Given the description of an element on the screen output the (x, y) to click on. 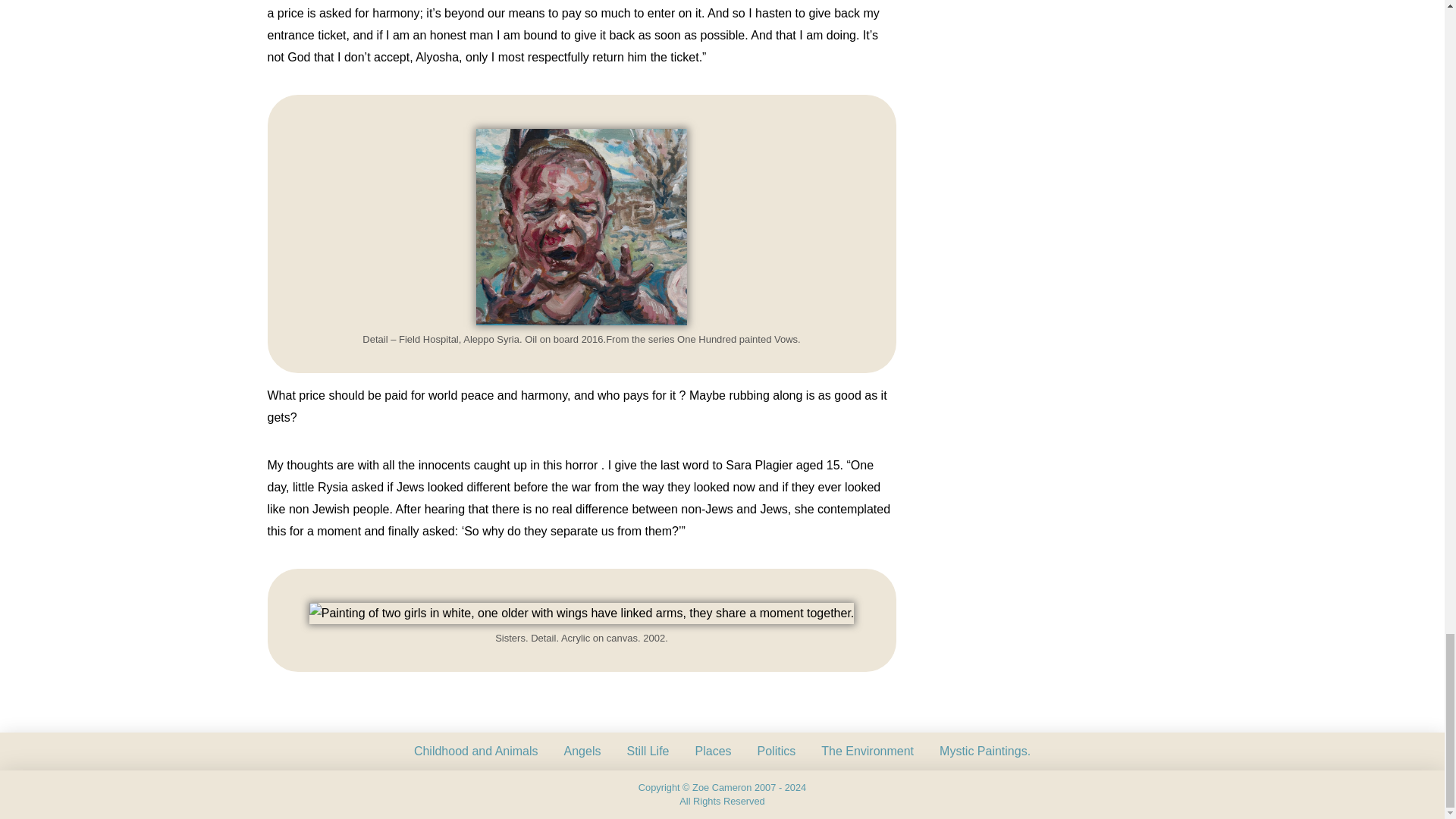
Angels (582, 751)
Childhood and Animals (476, 751)
Politics (776, 751)
Mystic Paintings. (984, 751)
Still Life (646, 751)
Places (713, 751)
The Environment (867, 751)
